Given the description of an element on the screen output the (x, y) to click on. 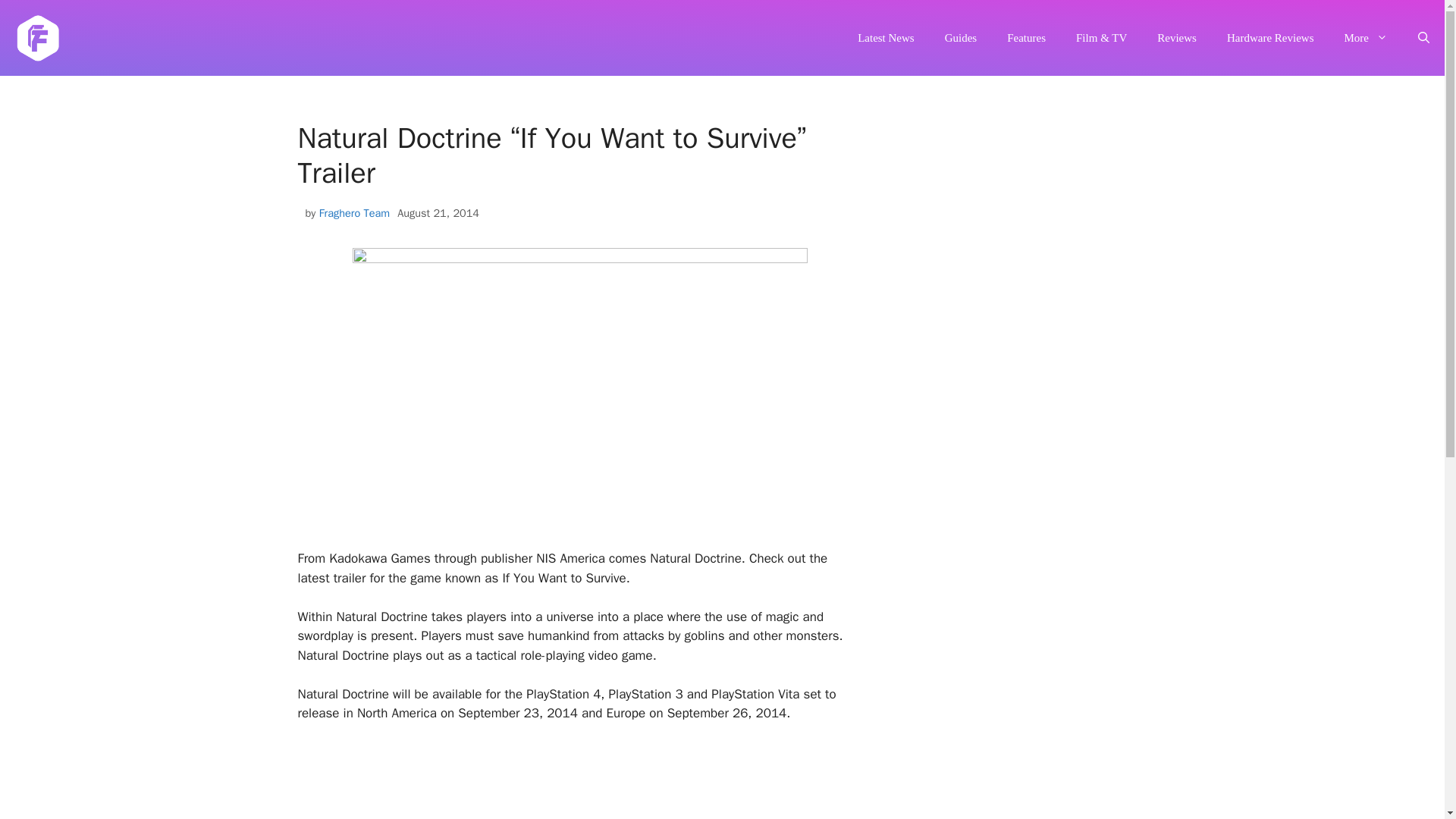
Hardware Reviews (1270, 37)
Features (1026, 37)
Latest News (886, 37)
More (1365, 37)
Guides (961, 37)
View all posts by Fraghero Team (354, 213)
Reviews (1176, 37)
